Given the description of an element on the screen output the (x, y) to click on. 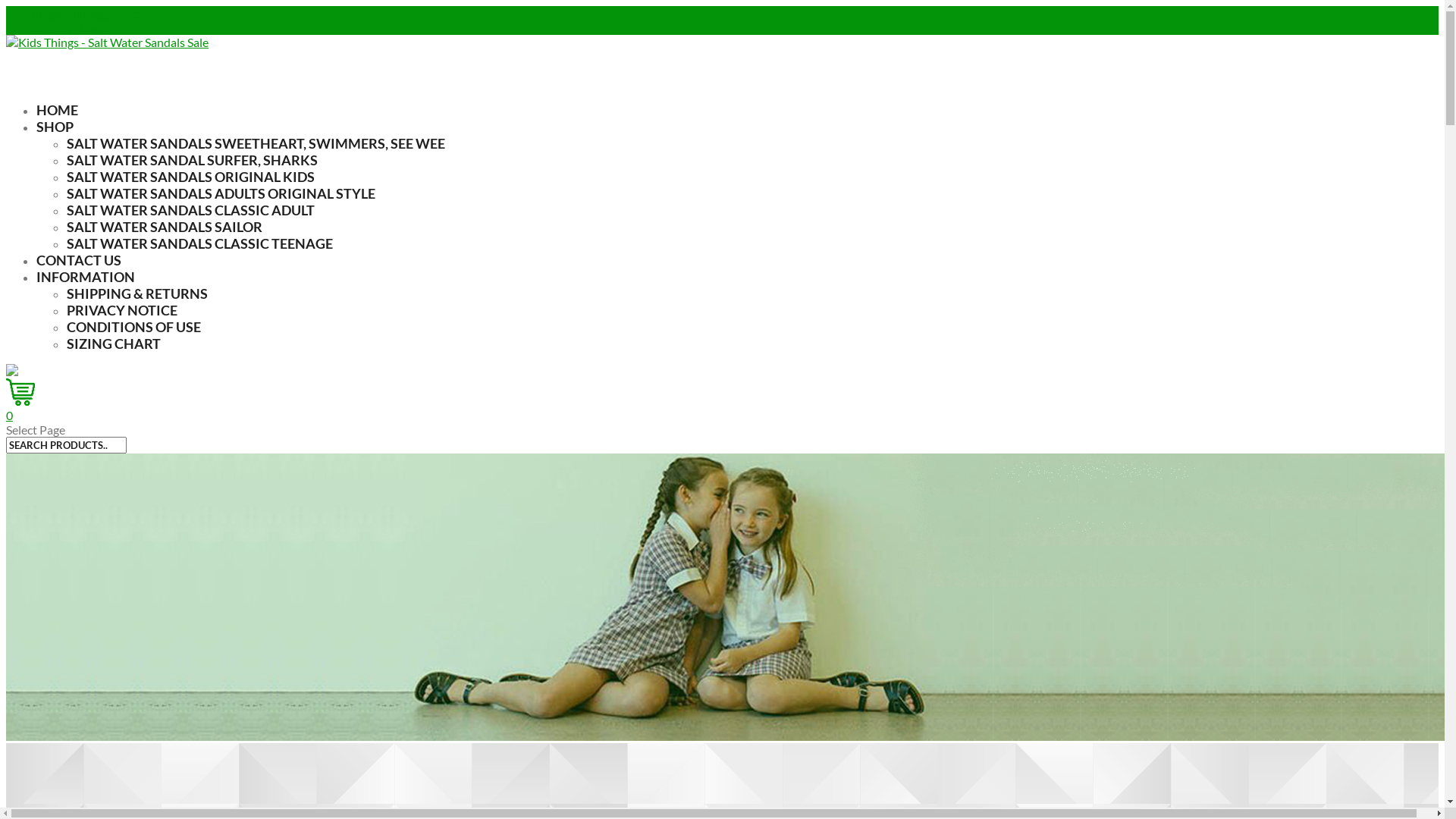
HOME Element type: text (57, 109)
Login Element type: text (88, 27)
INFORMATION Element type: text (85, 276)
Wish list Element type: text (35, 27)
PRIVACY NOTICE Element type: text (121, 309)
CONTACT US Element type: text (78, 259)
SALT WATER SANDAL SURFER, SHARKS Element type: text (191, 159)
kidsthingsonline@gmail.com Element type: text (80, 13)
SALT WATER SANDALS SAILOR Element type: text (164, 226)
SALT WATER SANDALS ADULTS ORIGINAL STYLE Element type: text (220, 193)
SALT WATER SANDALS ORIGINAL KIDS Element type: text (190, 176)
SHIPPING & RETURNS Element type: text (136, 293)
Search for: Element type: hover (66, 444)
SALT WATER SANDALS SWEETHEART, SWIMMERS, SEE WEE Element type: text (255, 142)
SHOP Element type: text (54, 126)
CONDITIONS OF USE Element type: text (133, 326)
SALT WATER SANDALS CLASSIC TEENAGE Element type: text (199, 243)
0 Element type: text (544, 407)
SALT WATER SANDALS CLASSIC ADULT Element type: text (190, 209)
SIZING CHART Element type: text (113, 343)
